Given the description of an element on the screen output the (x, y) to click on. 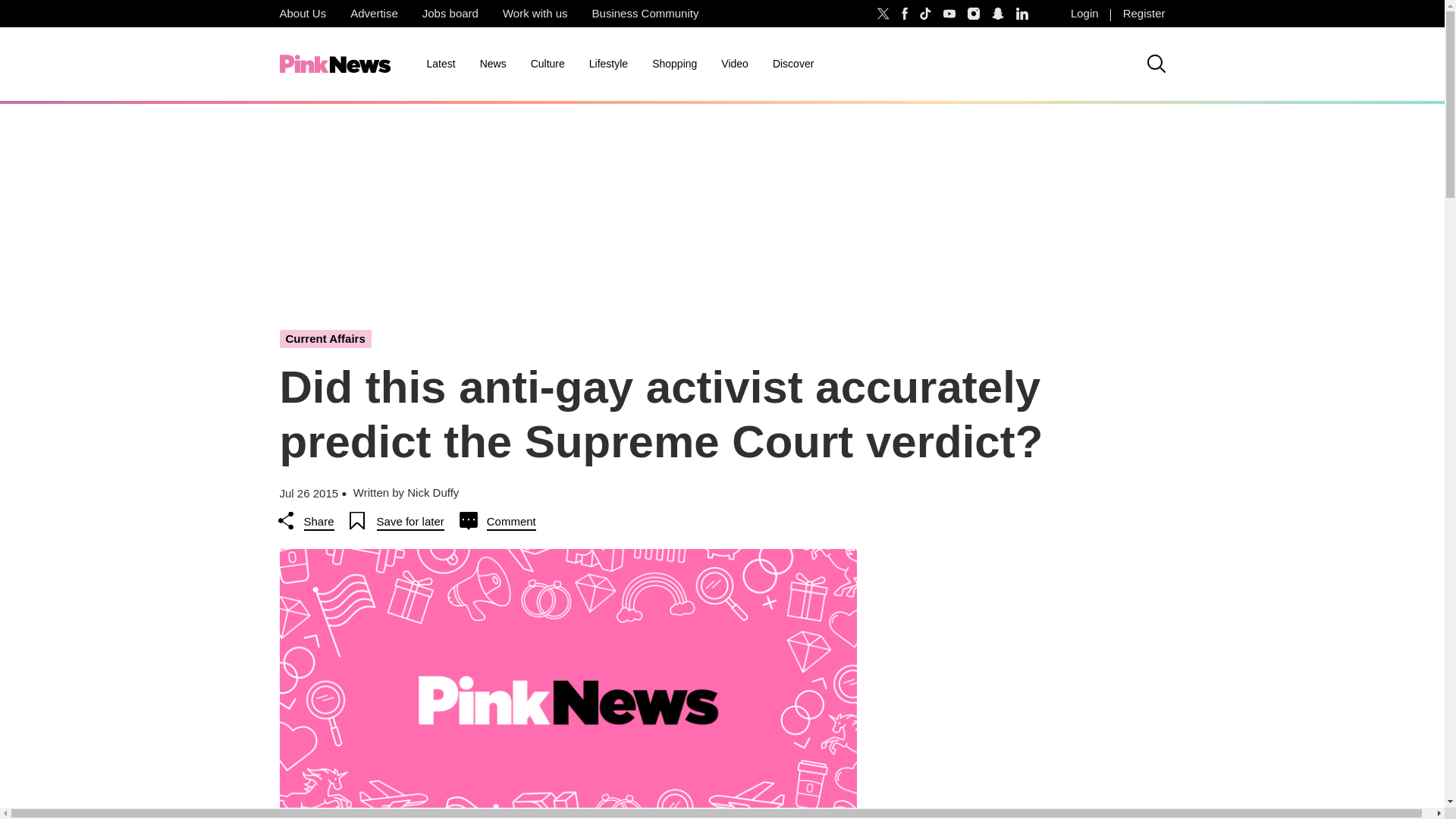
News (493, 63)
Advertise (373, 13)
Register (1143, 13)
Jobs board (450, 13)
Culture (547, 63)
Lifestyle (608, 63)
Login (1084, 13)
Follow PinkNews on LinkedIn (1021, 13)
Work with us (534, 13)
Latest (440, 63)
